Given the description of an element on the screen output the (x, y) to click on. 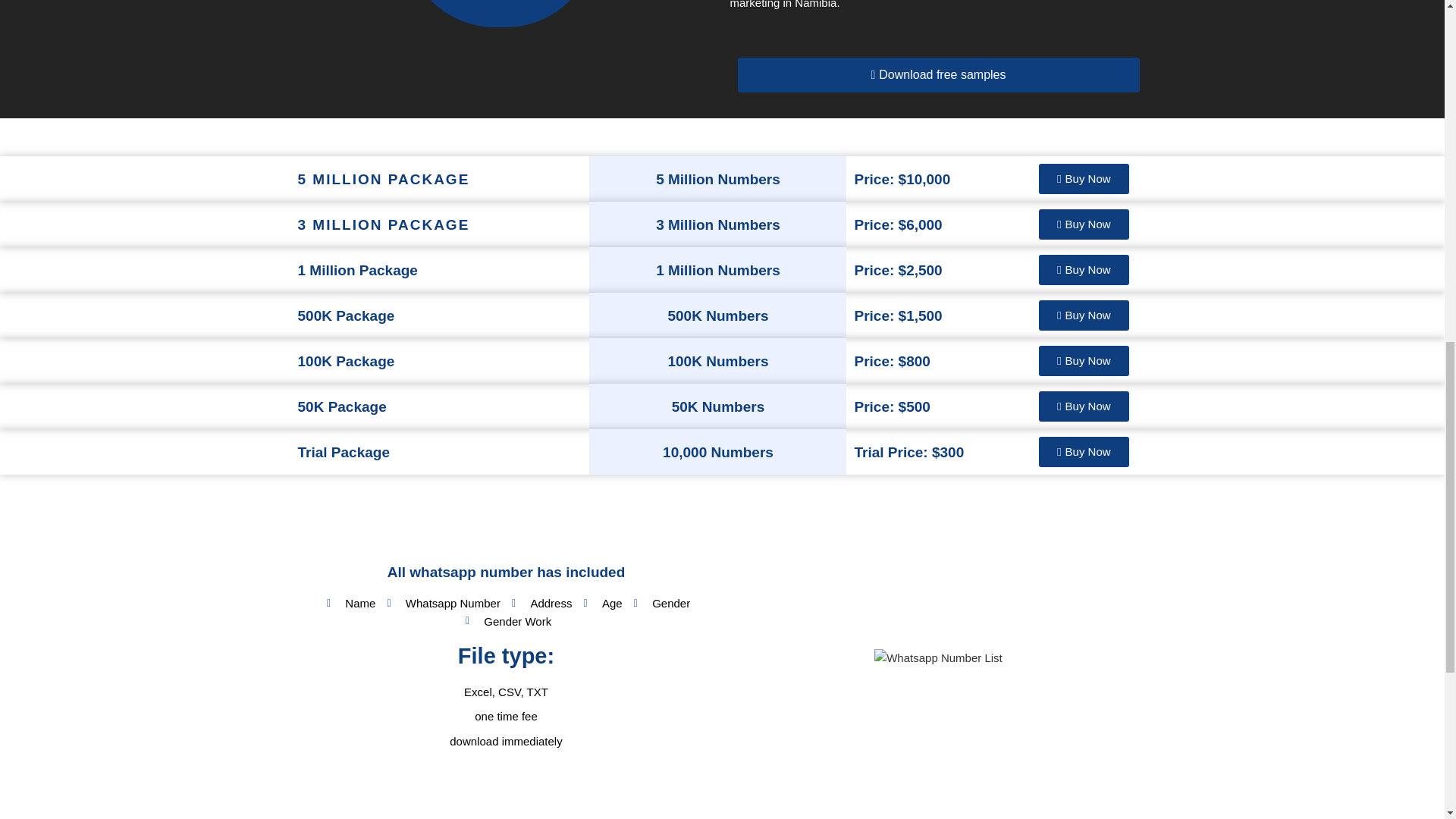
Buy Now (1084, 451)
Buy Now (1084, 360)
Buy Now (1084, 178)
Download free samples (937, 74)
Buy Now (1084, 224)
Buy Now (1084, 269)
Buy Now (1084, 406)
Buy Now (1084, 315)
